Given the description of an element on the screen output the (x, y) to click on. 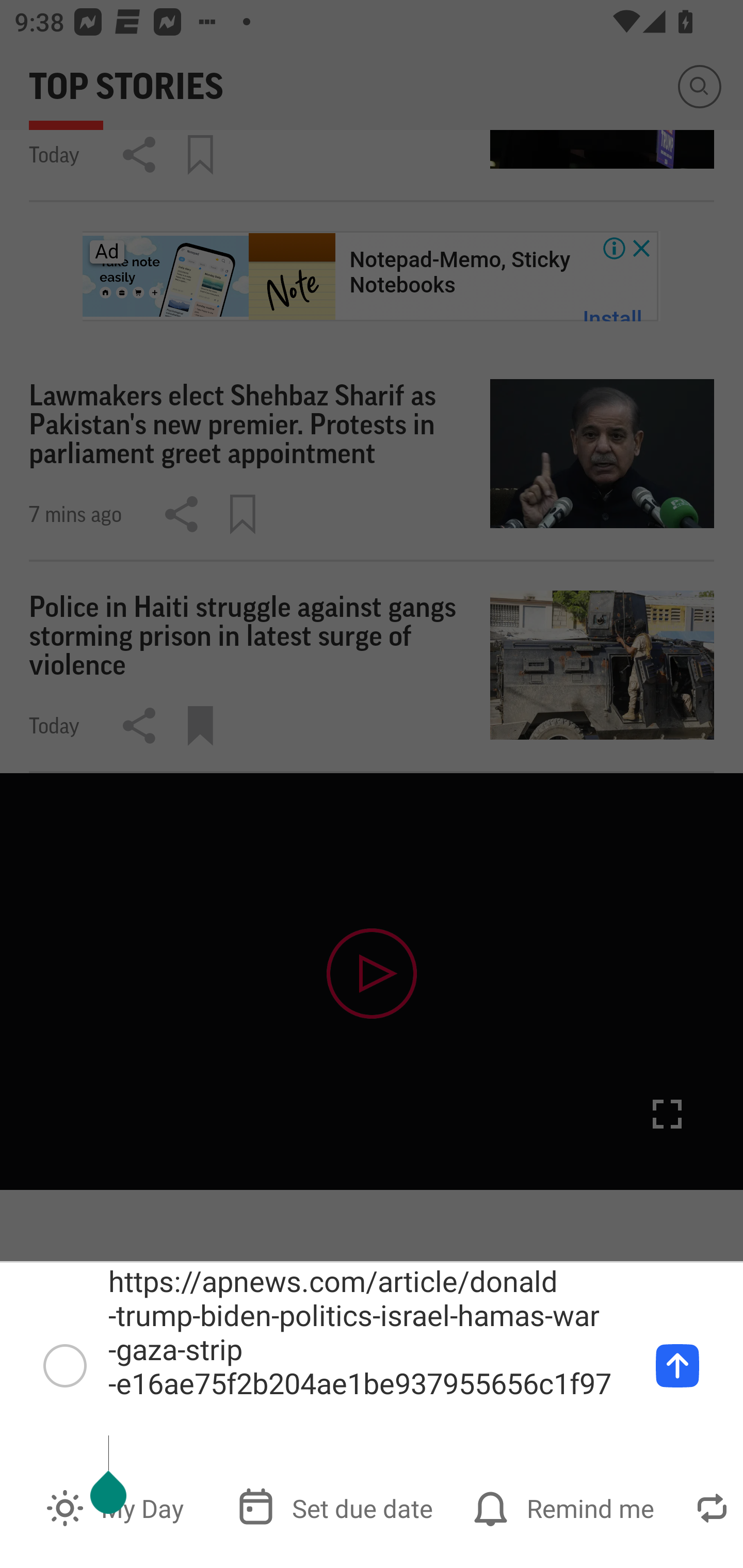
Add a task (676, 1365)
My Day (116, 1507)
Set due date (337, 1507)
Remind me (565, 1507)
